Given the description of an element on the screen output the (x, y) to click on. 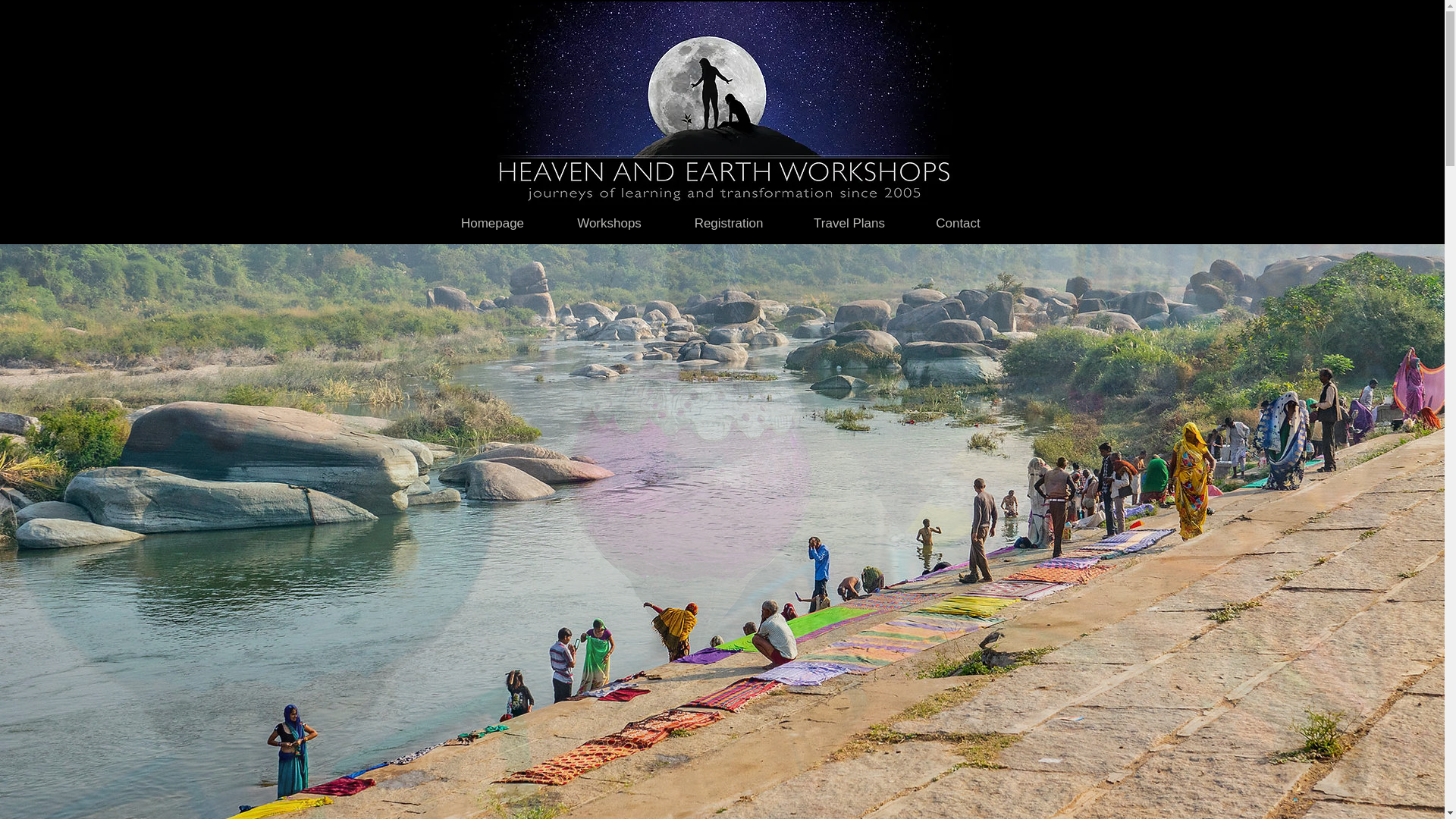
Travel Plans (849, 223)
Contact (957, 223)
Homepage (491, 223)
